Given the description of an element on the screen output the (x, y) to click on. 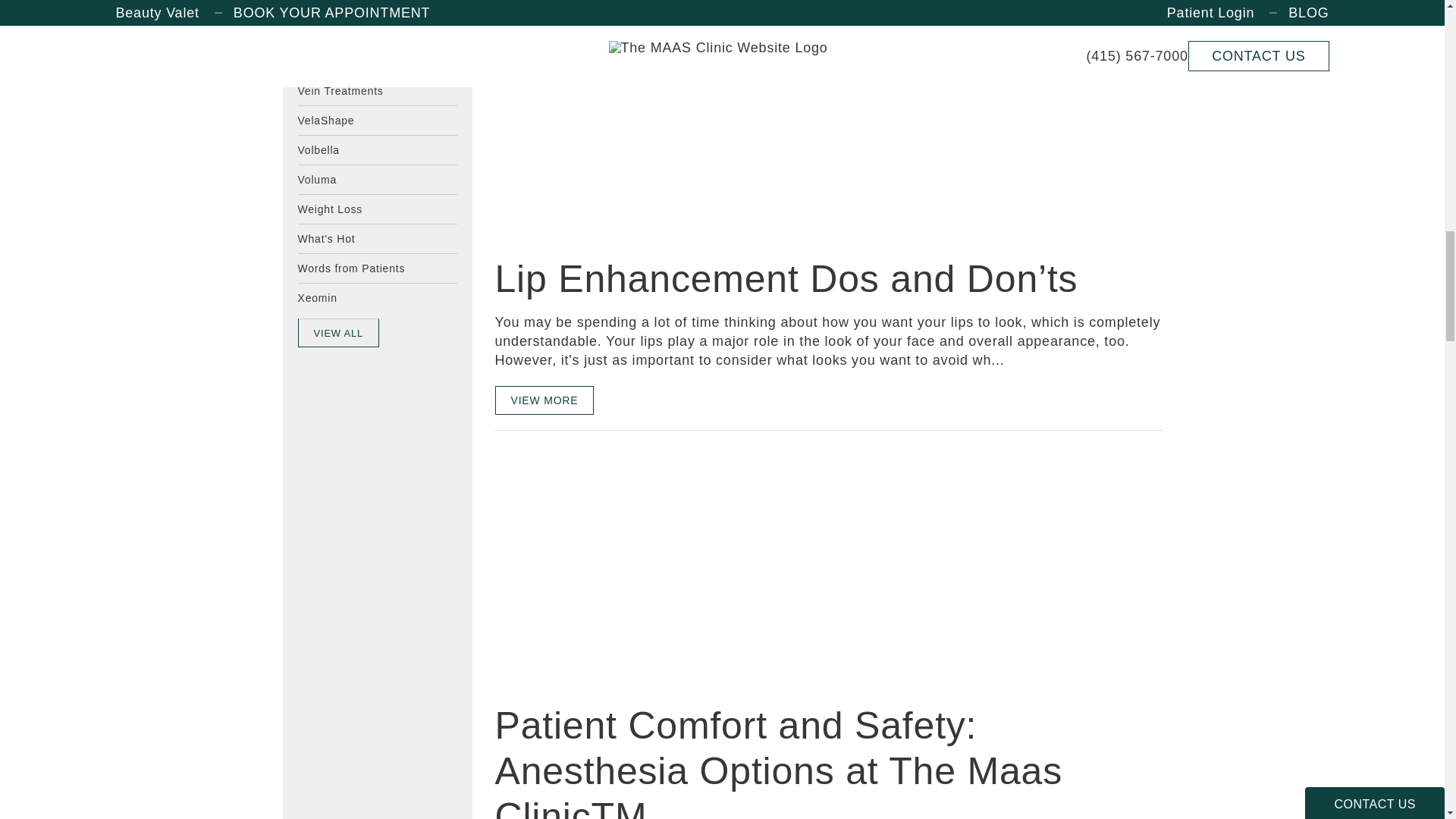
View full blog article (544, 399)
View blog article (608, 565)
View blog article (608, 120)
